Given the description of an element on the screen output the (x, y) to click on. 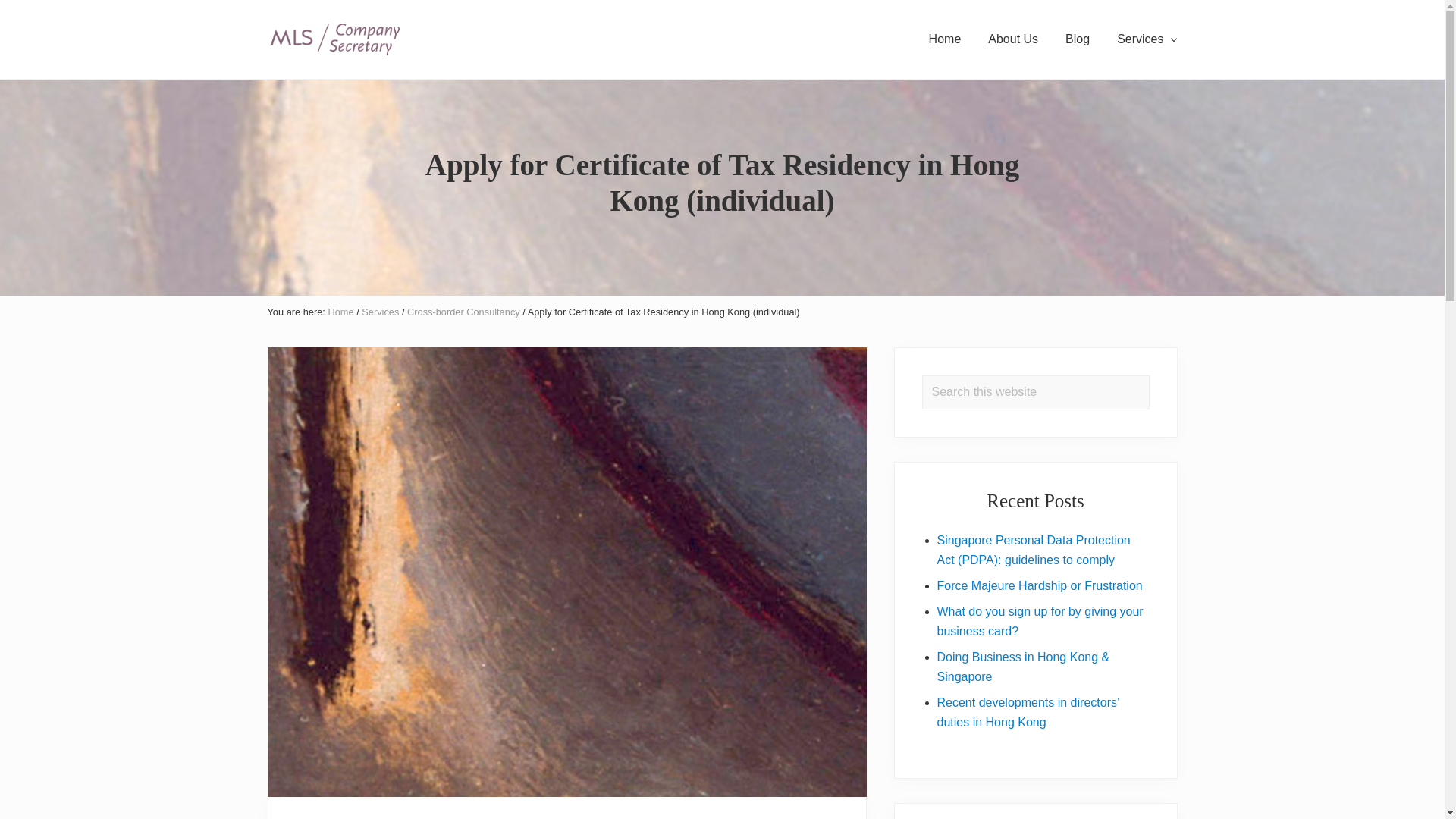
Services (379, 311)
About Us (1012, 38)
Home (340, 311)
Cross-border Consultancy (463, 311)
Blog (1077, 38)
Home (945, 38)
Services (1146, 38)
Force Majeure Hardship or Frustration (1039, 585)
What do you sign up for by giving your business card? (1039, 621)
